Given the description of an element on the screen output the (x, y) to click on. 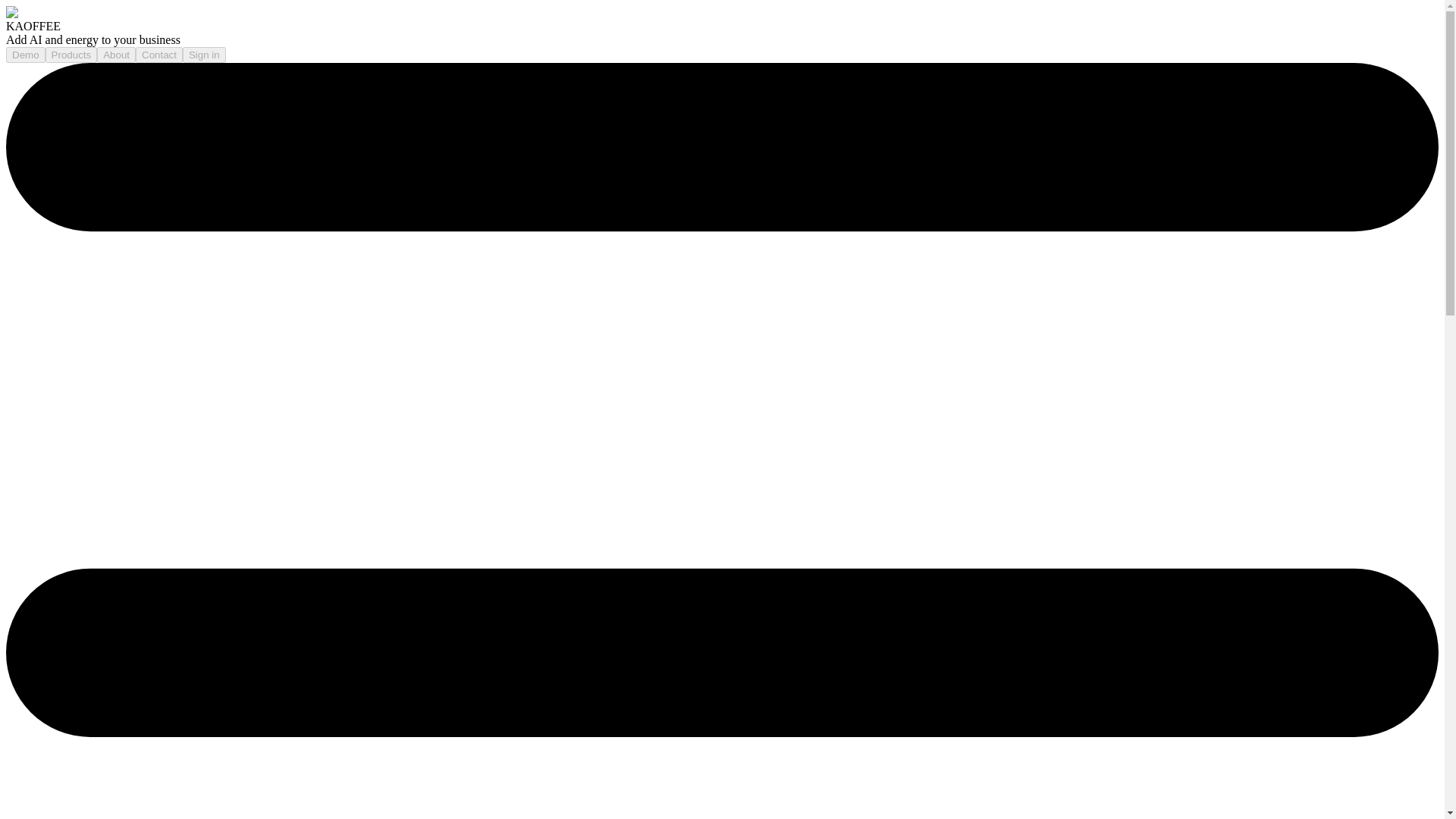
About (116, 54)
About (116, 53)
Demo (25, 53)
Demo (25, 54)
Contact (159, 53)
Products (71, 53)
Products (71, 54)
Contact (159, 54)
Sign in (204, 54)
